Given the description of an element on the screen output the (x, y) to click on. 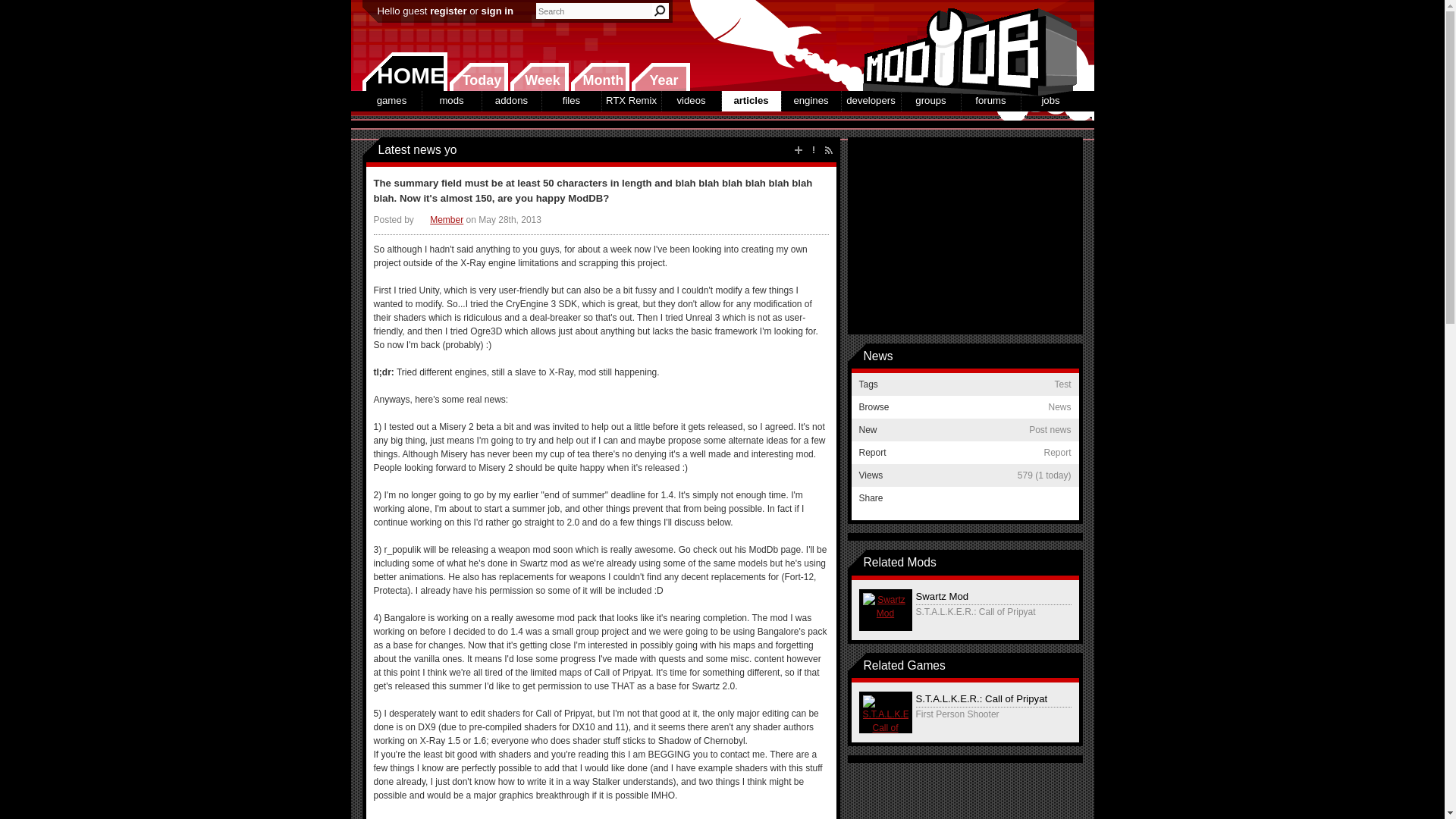
New today (478, 76)
Week (539, 76)
Month (599, 76)
RTX Remix (631, 100)
mods (451, 100)
games (392, 100)
New this week (539, 76)
New this year (660, 76)
Search ModDB (660, 10)
sign in (497, 10)
